Given the description of an element on the screen output the (x, y) to click on. 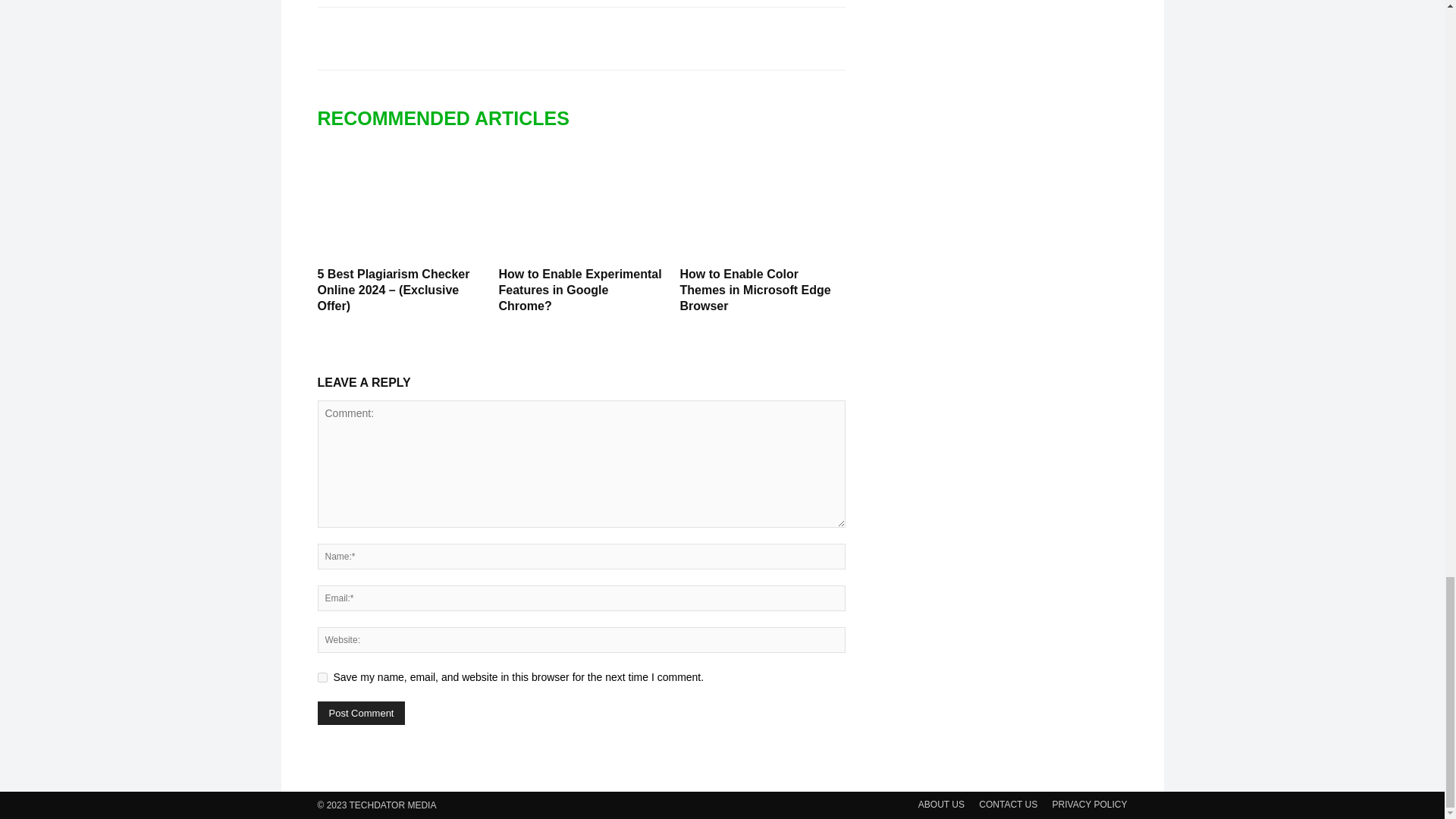
RECOMMENDED ARTICLES (450, 118)
yes (321, 677)
Post Comment (360, 712)
